Given the description of an element on the screen output the (x, y) to click on. 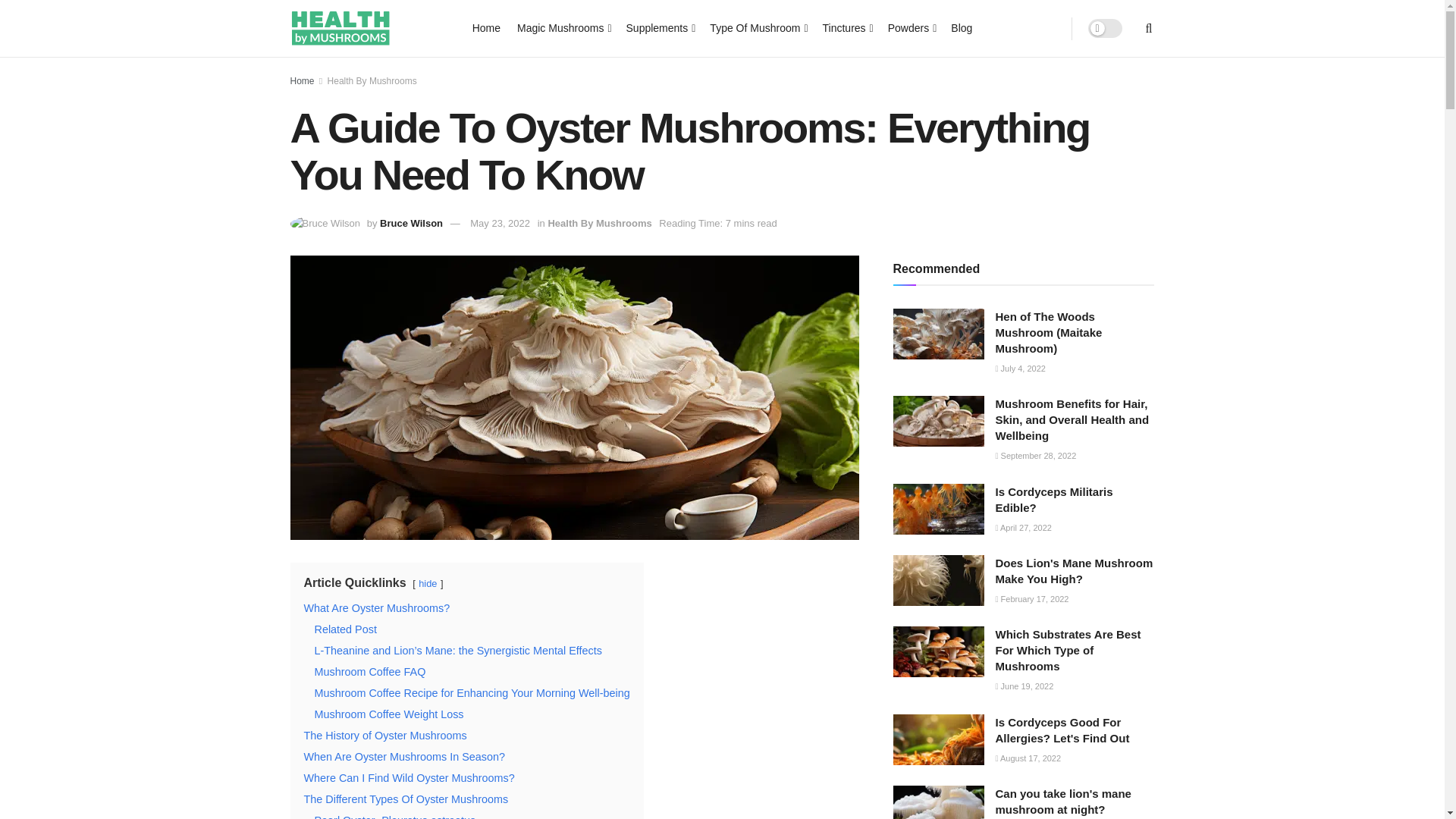
Home (485, 27)
Supplements (660, 27)
Type Of Mushroom (757, 27)
Magic Mushrooms (563, 27)
